Given the description of an element on the screen output the (x, y) to click on. 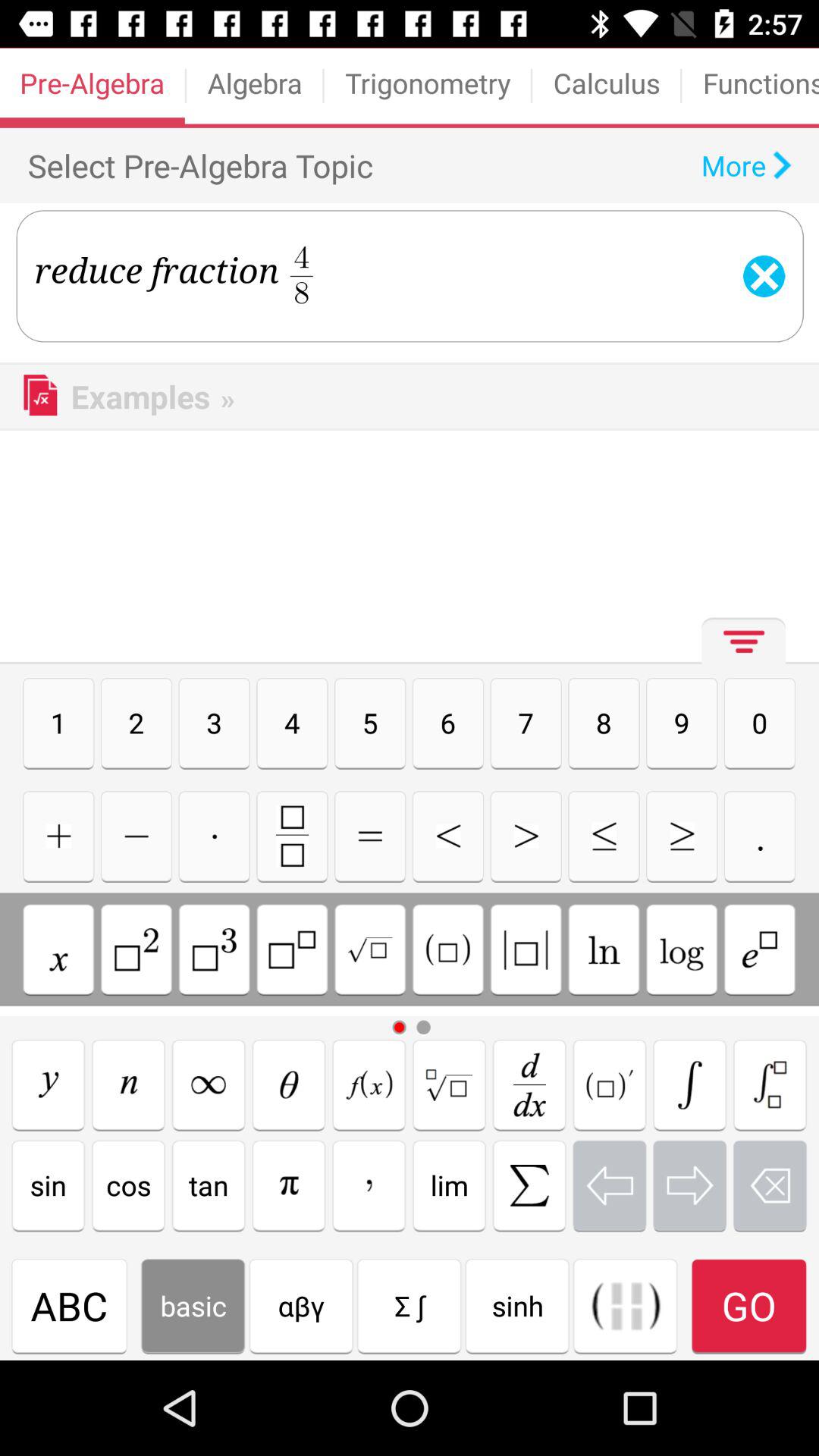
math function (48, 1084)
